Given the description of an element on the screen output the (x, y) to click on. 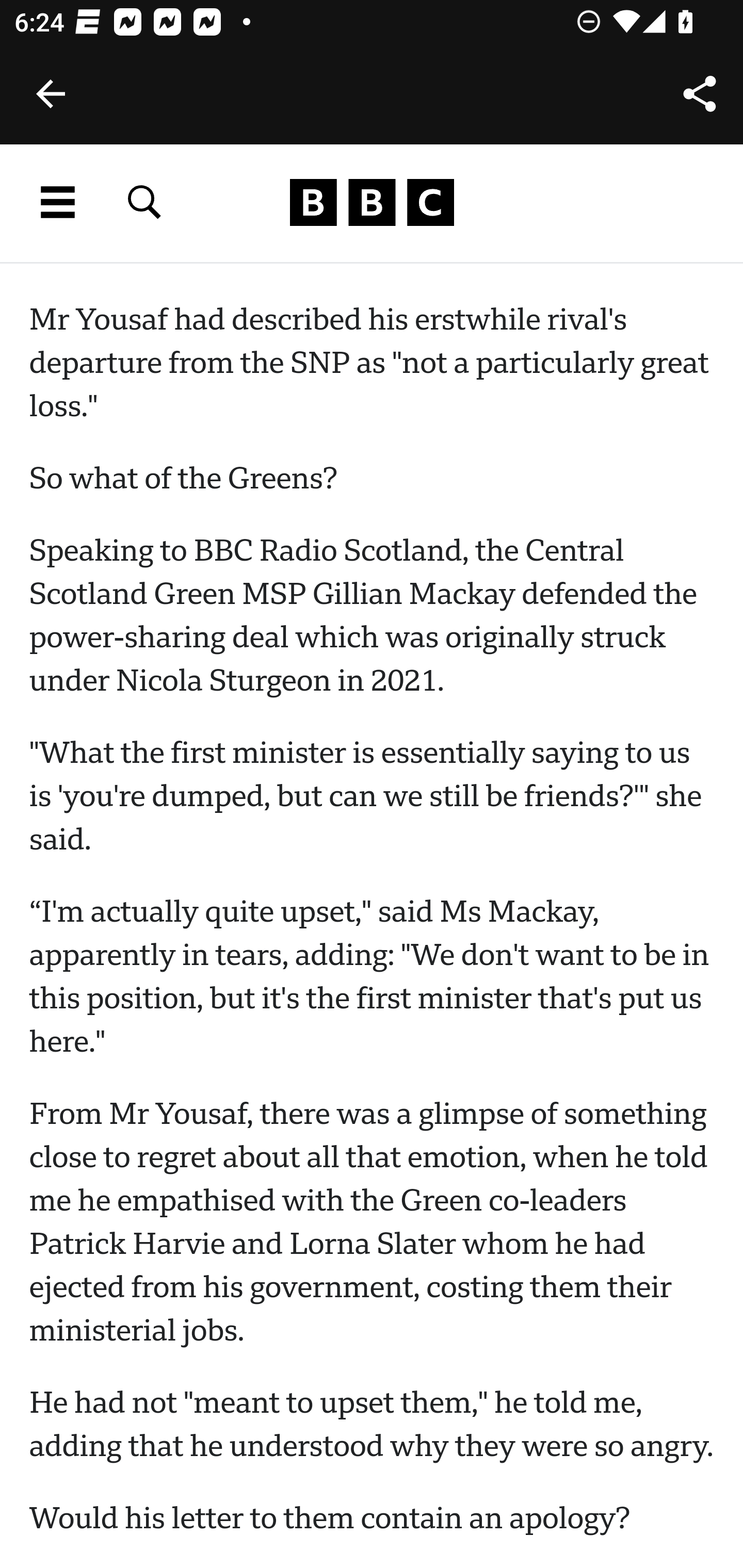
Back (50, 93)
Share (699, 93)
www.bbc (371, 203)
